Given the description of an element on the screen output the (x, y) to click on. 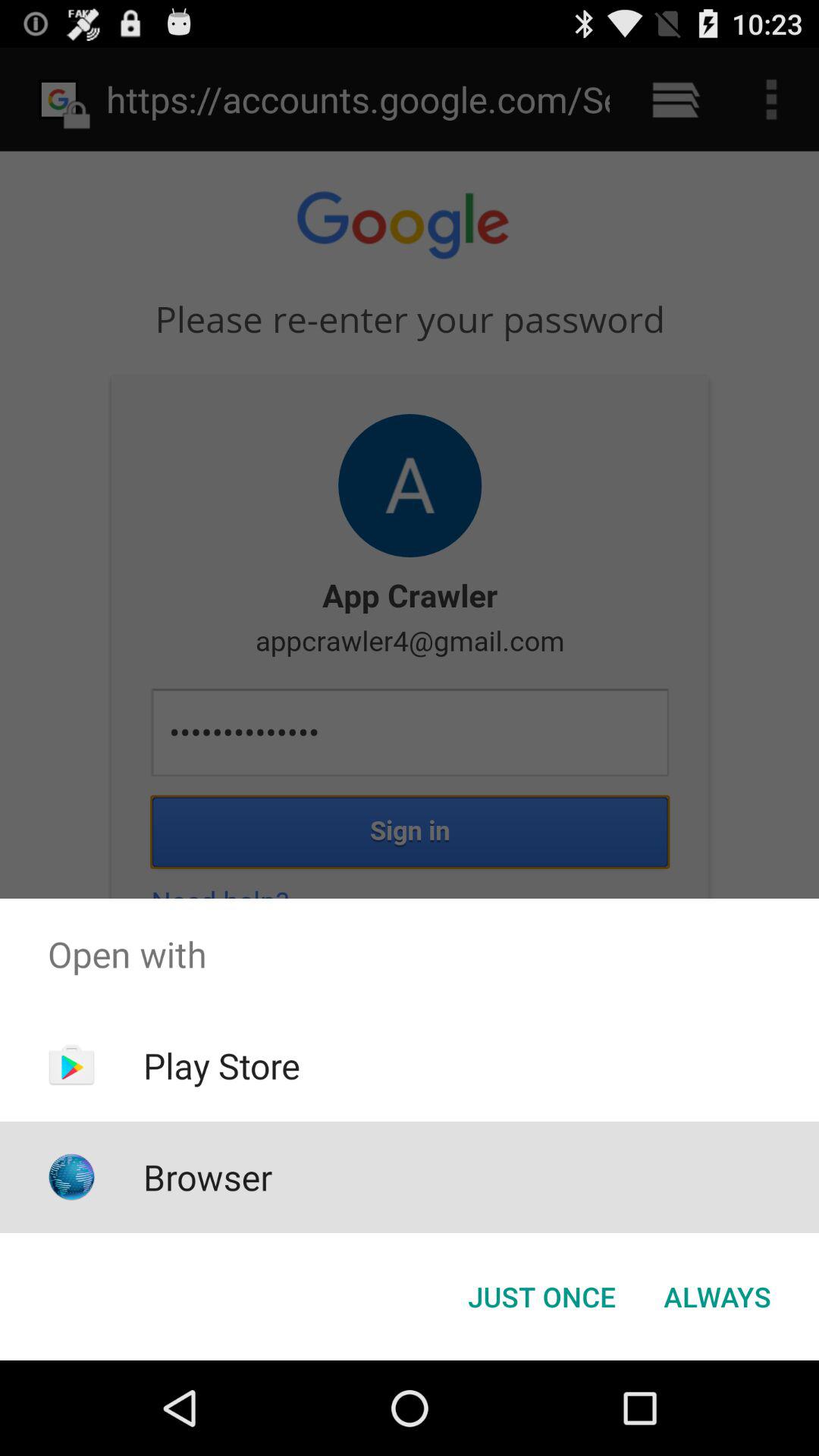
launch the item to the right of the just once button (717, 1296)
